Given the description of an element on the screen output the (x, y) to click on. 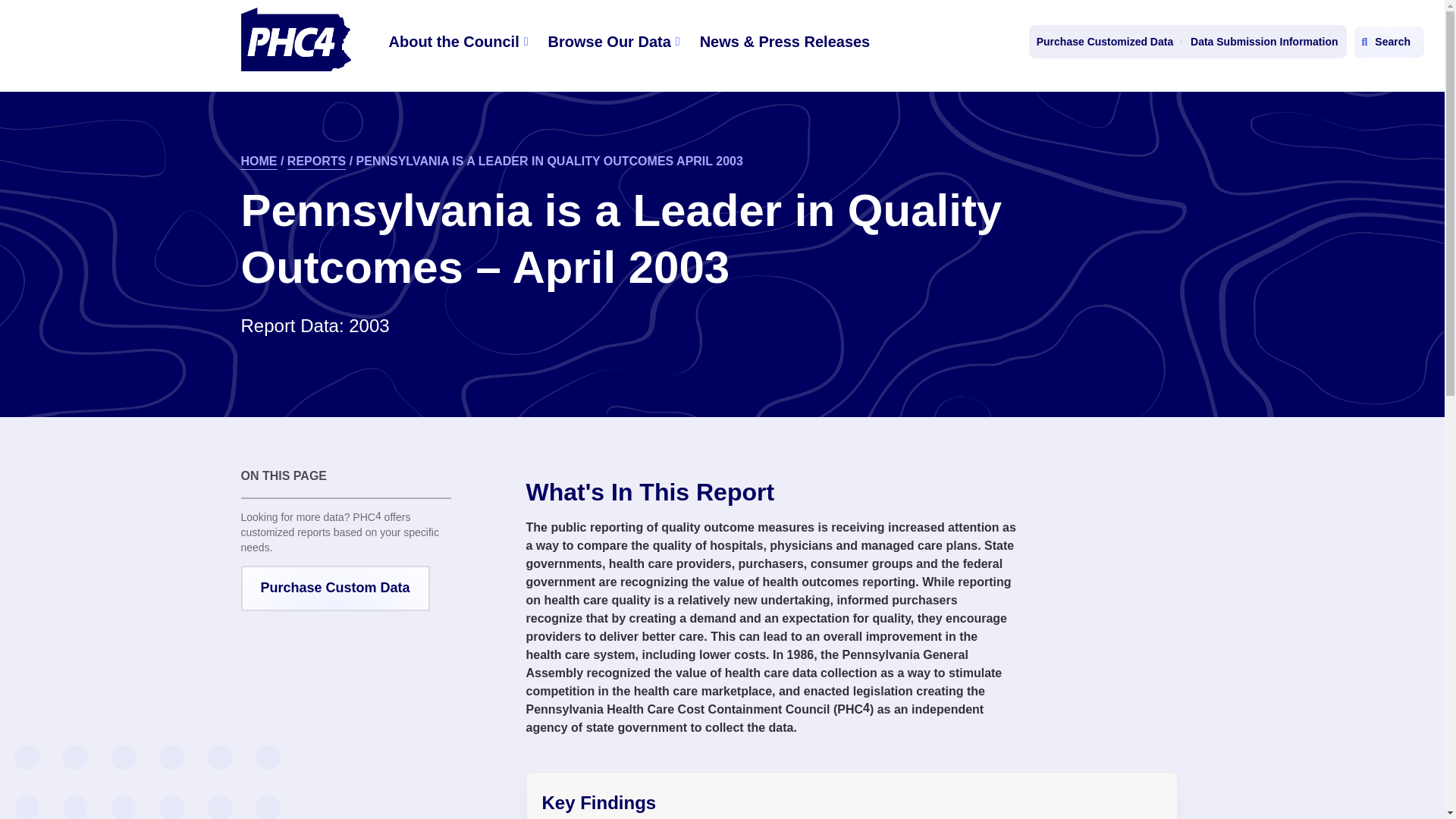
Purchase Customized Data (1105, 41)
Browse Our Data (613, 41)
About the Council (457, 41)
REPORTS (316, 160)
Search (1388, 41)
HOME (259, 160)
Purchase Custom Data (335, 587)
Data Submission Information (1263, 41)
